Given the description of an element on the screen output the (x, y) to click on. 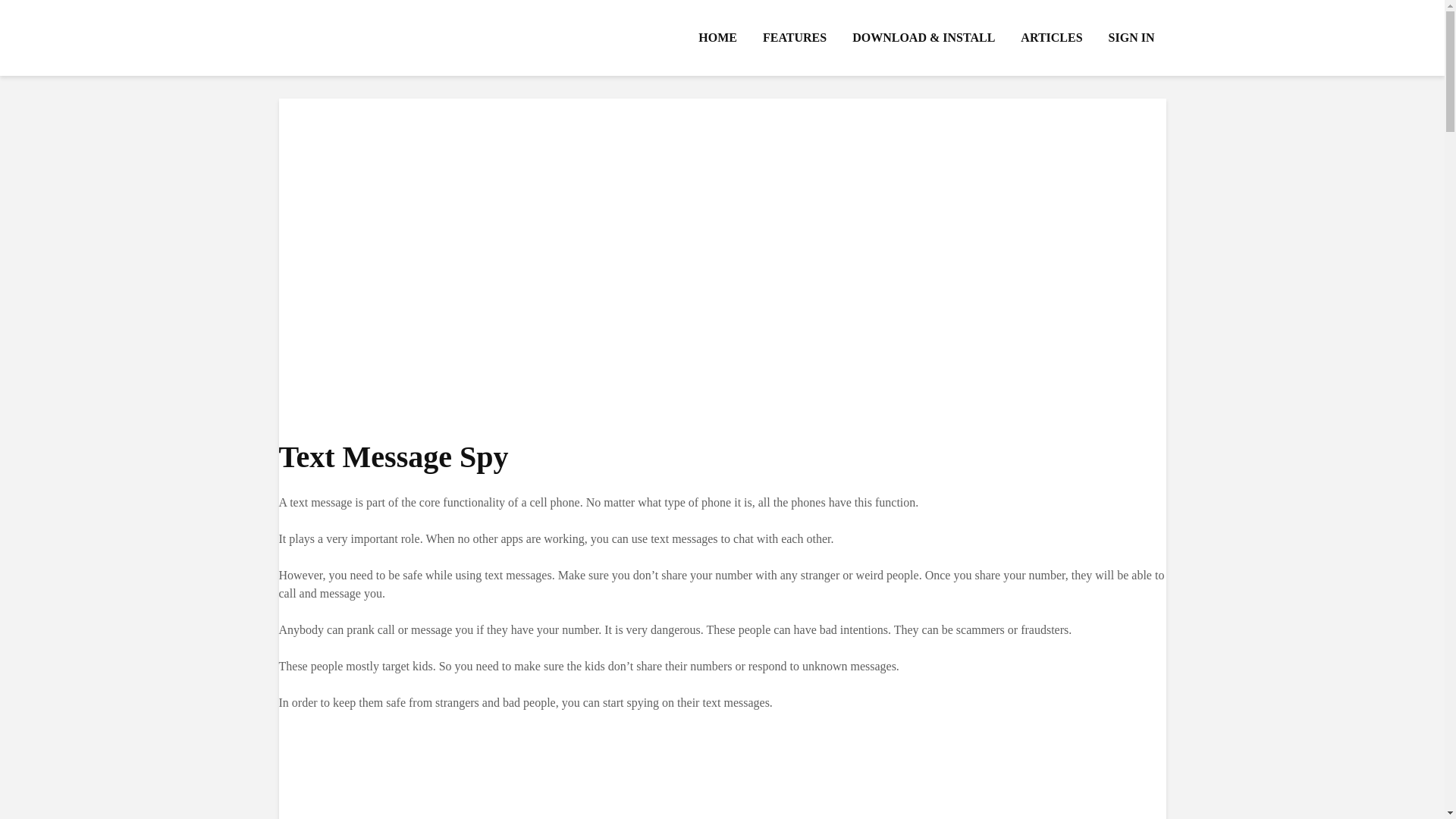
HOME (717, 37)
ARTICLES (1051, 37)
SIGN IN (1131, 37)
FEATURES (794, 37)
